Given the description of an element on the screen output the (x, y) to click on. 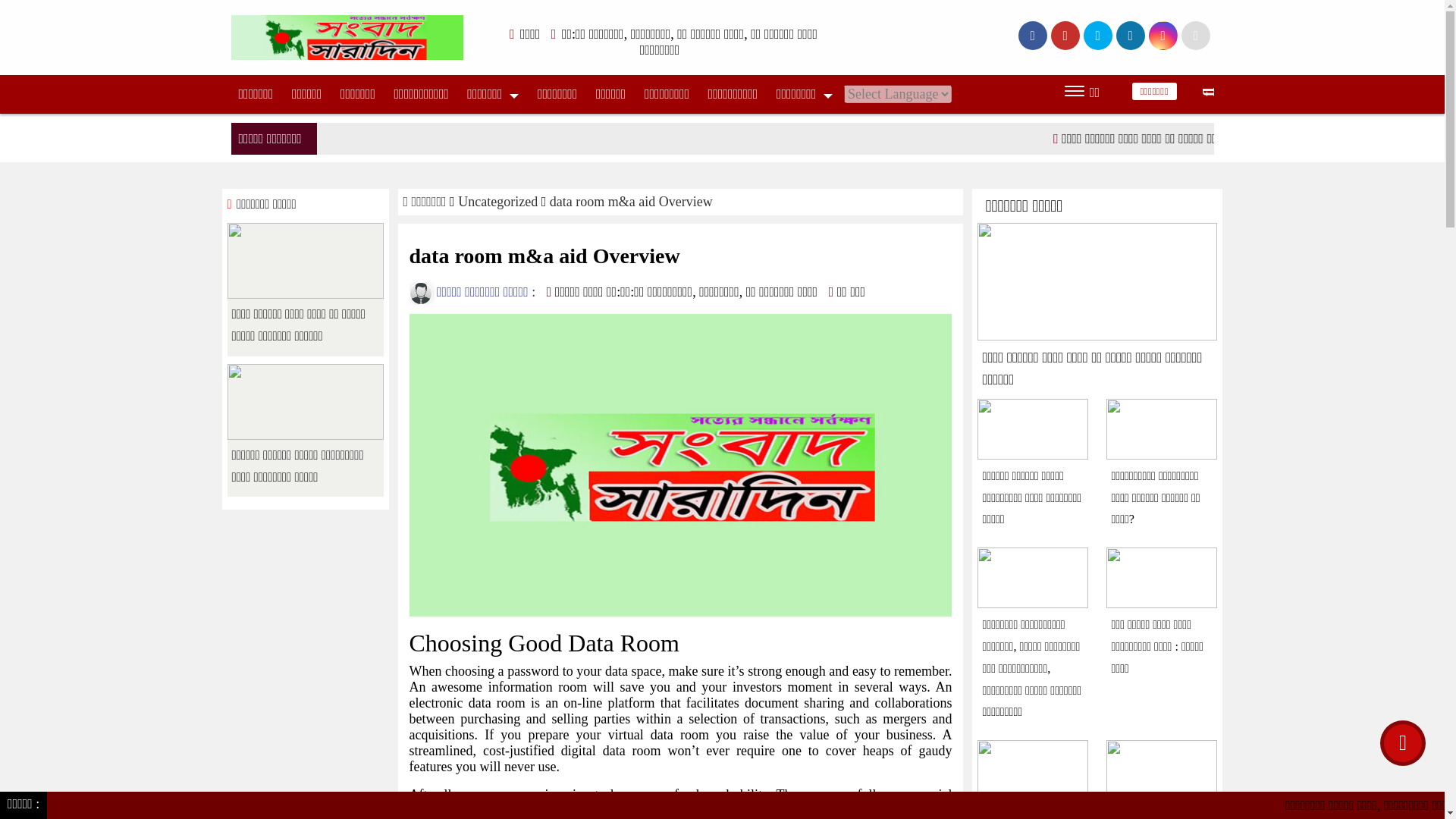
facebook (1031, 35)
youtube (1162, 35)
instagram (1097, 35)
twitter (1065, 35)
linkedin (1130, 35)
instagram (1194, 35)
